Given the description of an element on the screen output the (x, y) to click on. 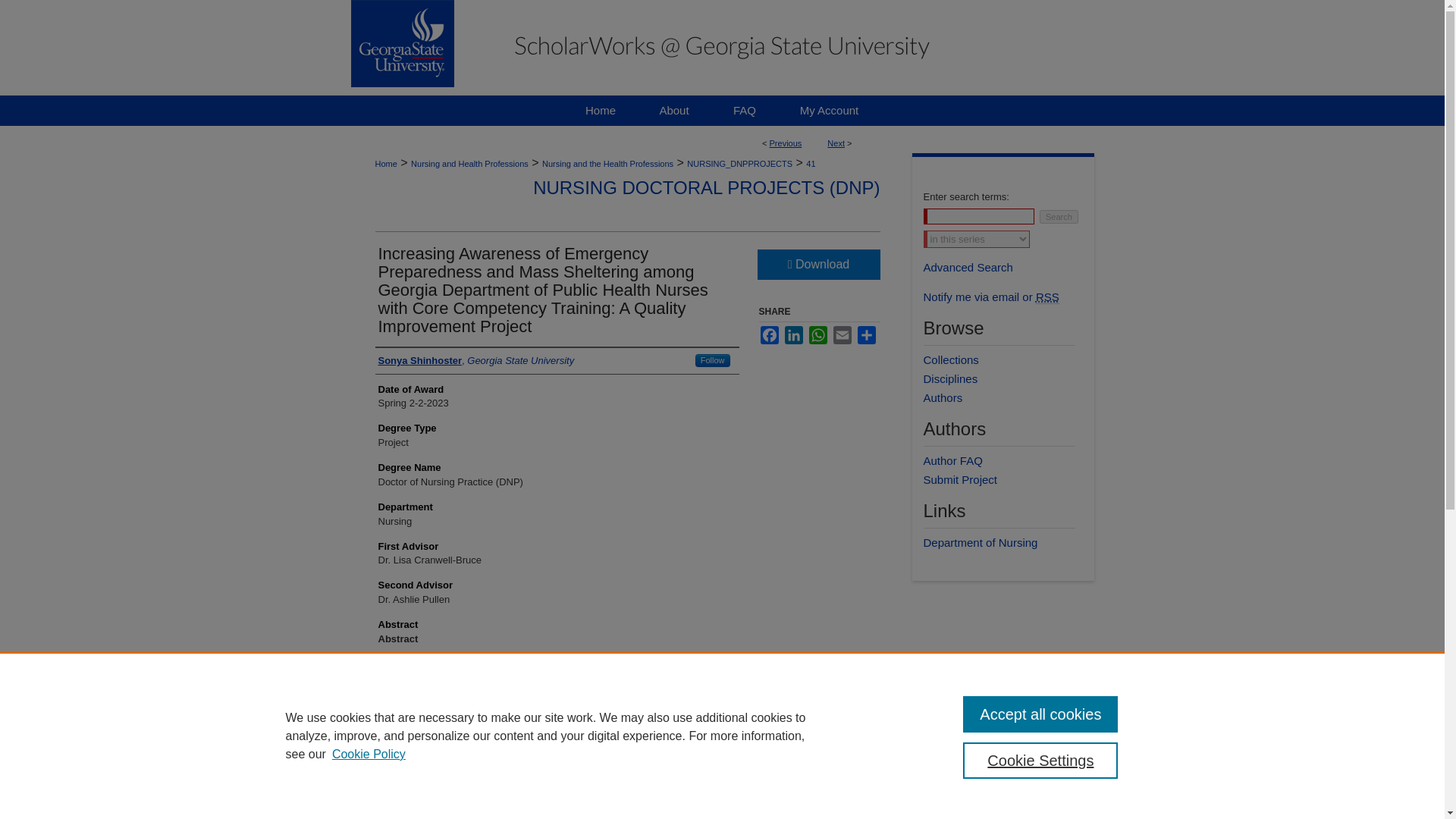
Nursing and Health Professions (469, 163)
My Account (828, 110)
Previous (786, 143)
Home (600, 110)
Home (600, 110)
FAQ (744, 110)
Follow (712, 359)
Really Simple Syndication (1047, 296)
LinkedIn (793, 334)
Email (841, 334)
Search (1058, 216)
Email or RSS Notifications (1008, 296)
41 (810, 163)
Nursing and the Health Professions (606, 163)
About (674, 110)
